Given the description of an element on the screen output the (x, y) to click on. 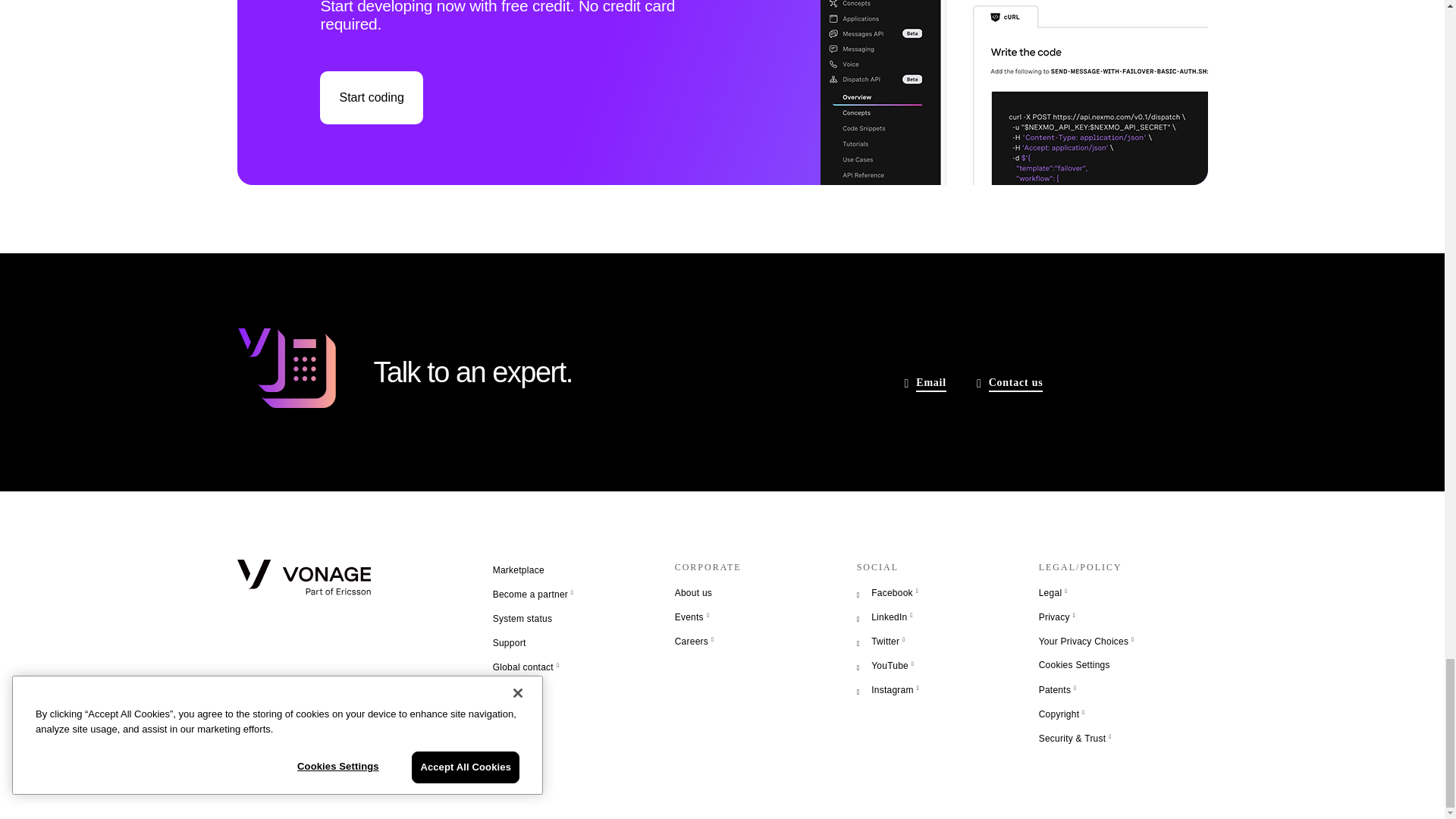
Vonage Phone (284, 370)
